Given the description of an element on the screen output the (x, y) to click on. 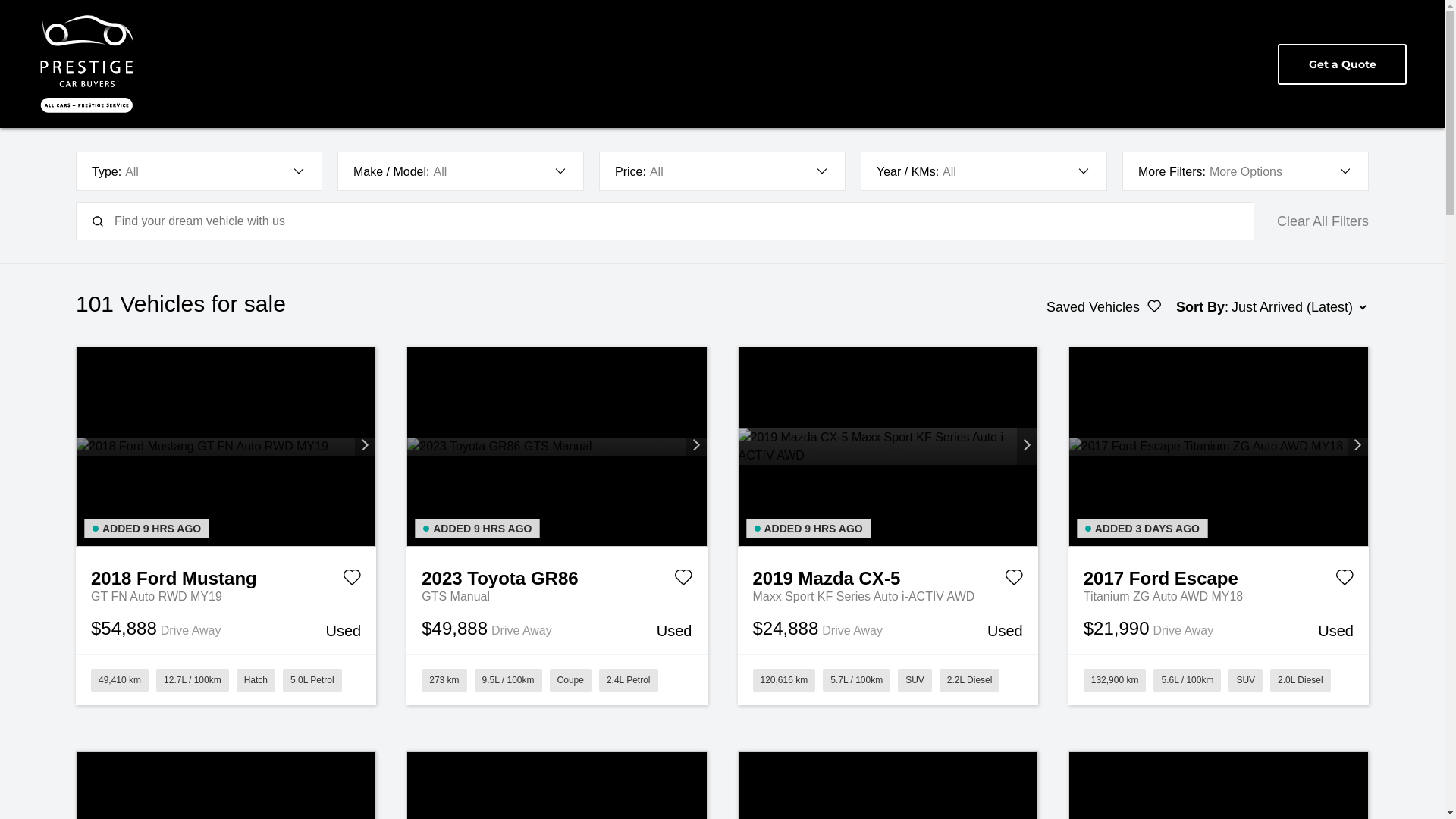
2018 Ford Mustang GT FN Auto RWD MY19 Element type: hover (225, 446)
120,616 km
5.7L / 100km
SUV
2.2L Diesel Element type: text (887, 679)
Save Vehicle Element type: hover (351, 579)
Clear All Filters Element type: text (1322, 221)
2017 Ford Escape Titanium ZG Auto AWD MY18 Element type: hover (1218, 446)
$24,888
Drive Away
Used Element type: text (887, 629)
Get a Quote Element type: text (1341, 63)
$21,990
Drive Away
Used Element type: text (1218, 629)
2023 Toyota GR86
GTS Manual Element type: text (556, 575)
Saved Vehicles Element type: text (1103, 307)
$49,888
Drive Away
Used Element type: text (556, 629)
132,900 km
5.6L / 100km
SUV
2.0L Diesel Element type: text (1218, 679)
2023 Toyota GR86 GTS Manual Element type: hover (556, 446)
Save Vehicle Element type: hover (1344, 579)
49,410 km
12.7L / 100km
Hatch
5.0L Petrol Element type: text (225, 679)
273 km
9.5L / 100km
Coupe
2.4L Petrol Element type: text (556, 679)
Save Vehicle Element type: hover (682, 579)
2019 Mazda CX-5
Maxx Sport KF Series Auto i-ACTIV AWD Element type: text (887, 575)
$54,888
Drive Away
Used Element type: text (225, 629)
2017 Ford Escape
Titanium ZG Auto AWD MY18 Element type: text (1218, 575)
Save Vehicle Element type: hover (1013, 579)
2018 Ford Mustang
GT FN Auto RWD MY19 Element type: text (225, 575)
2019 Mazda CX-5 Maxx Sport KF Series Auto i-ACTIV AWD Element type: hover (887, 446)
